Given the description of an element on the screen output the (x, y) to click on. 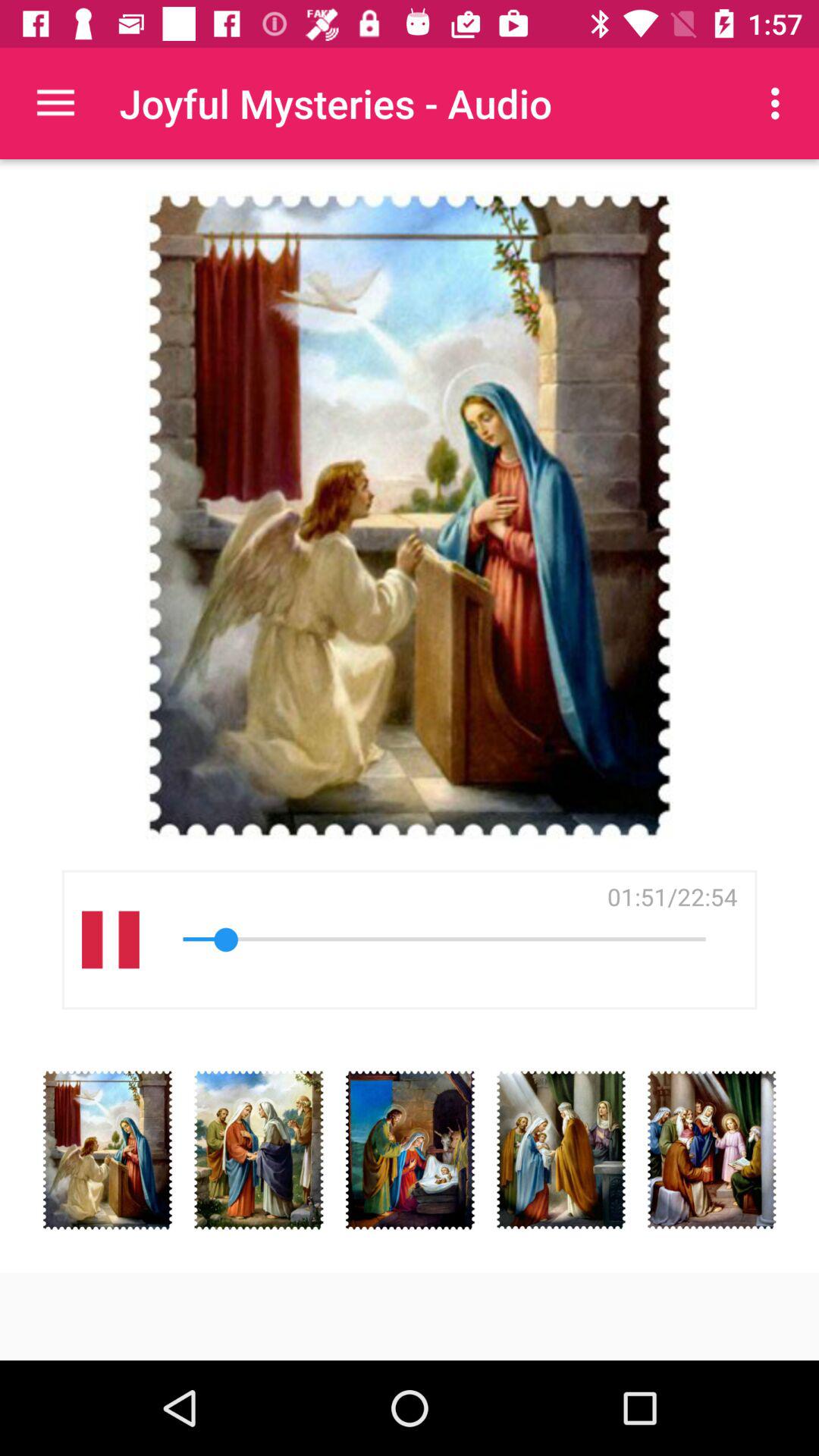
choose the app next to the joyful mysteries - audio icon (55, 103)
